Given the description of an element on the screen output the (x, y) to click on. 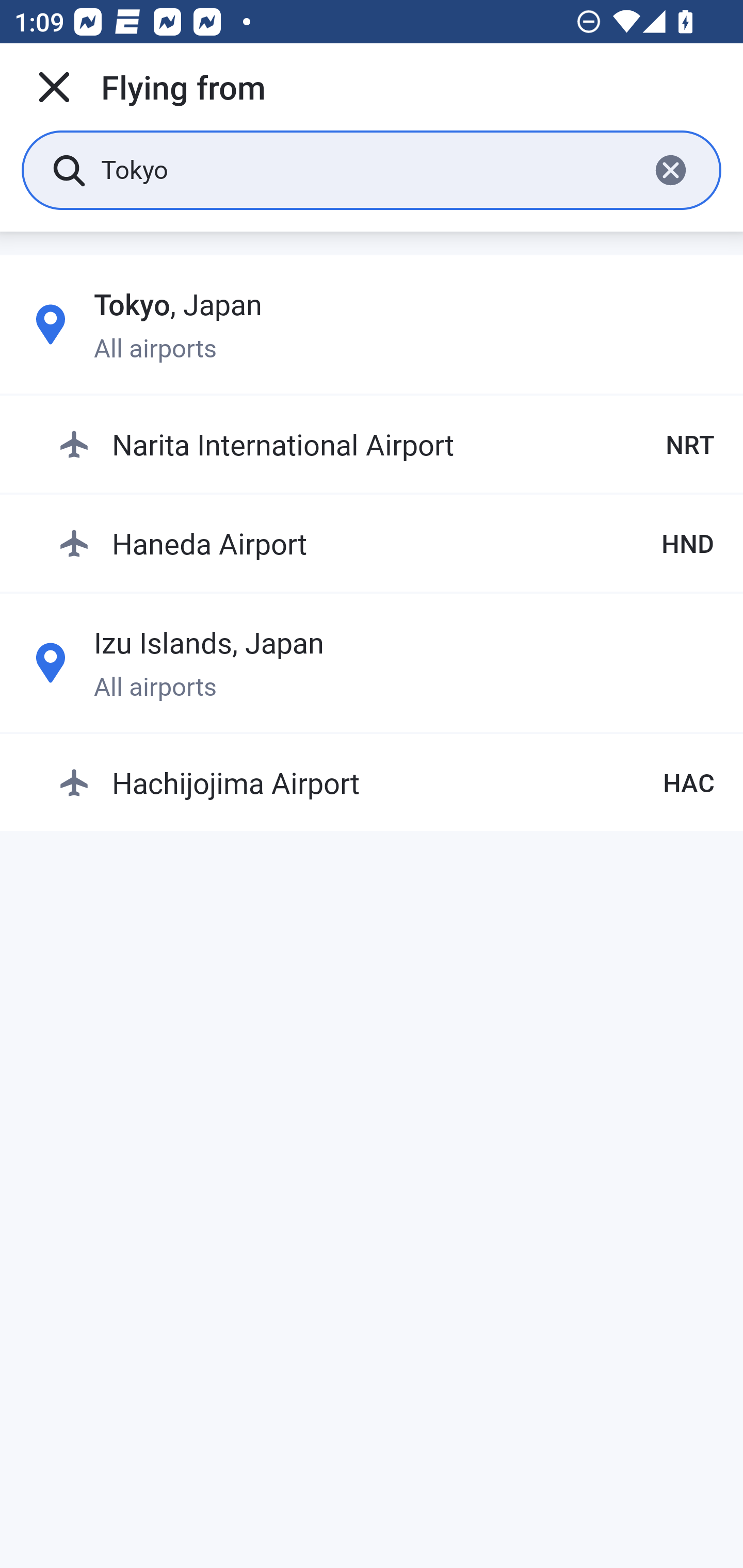
Tokyo (367, 169)
Tokyo, Japan All airports (371, 324)
Narita International Airport NRT (385, 444)
Haneda Airport HND (385, 543)
Izu Islands, Japan All airports (371, 662)
Hachijojima Airport HAC (385, 782)
